Given the description of an element on the screen output the (x, y) to click on. 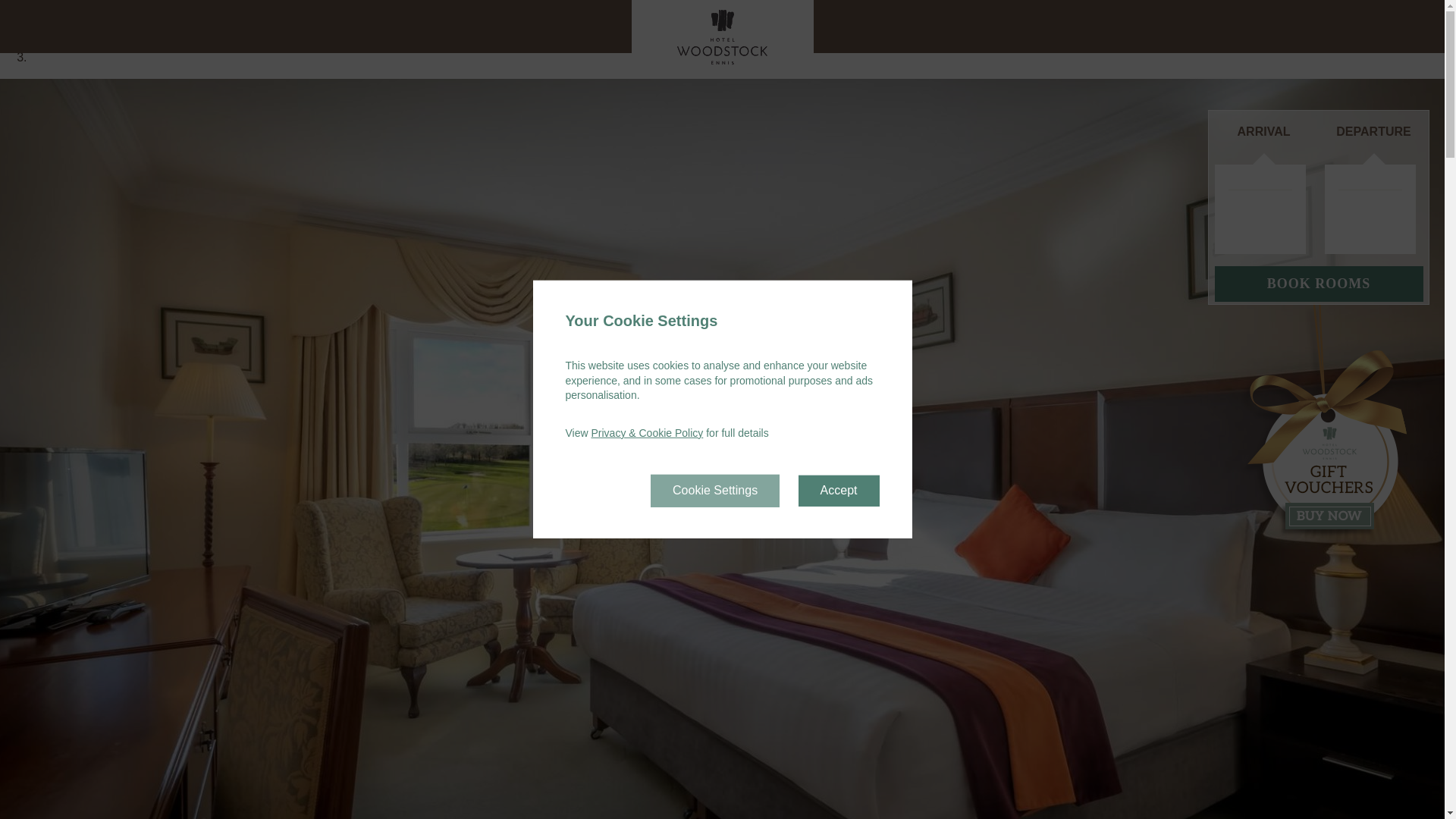
Accept (838, 490)
Cookie Settings (714, 490)
